Given the description of an element on the screen output the (x, y) to click on. 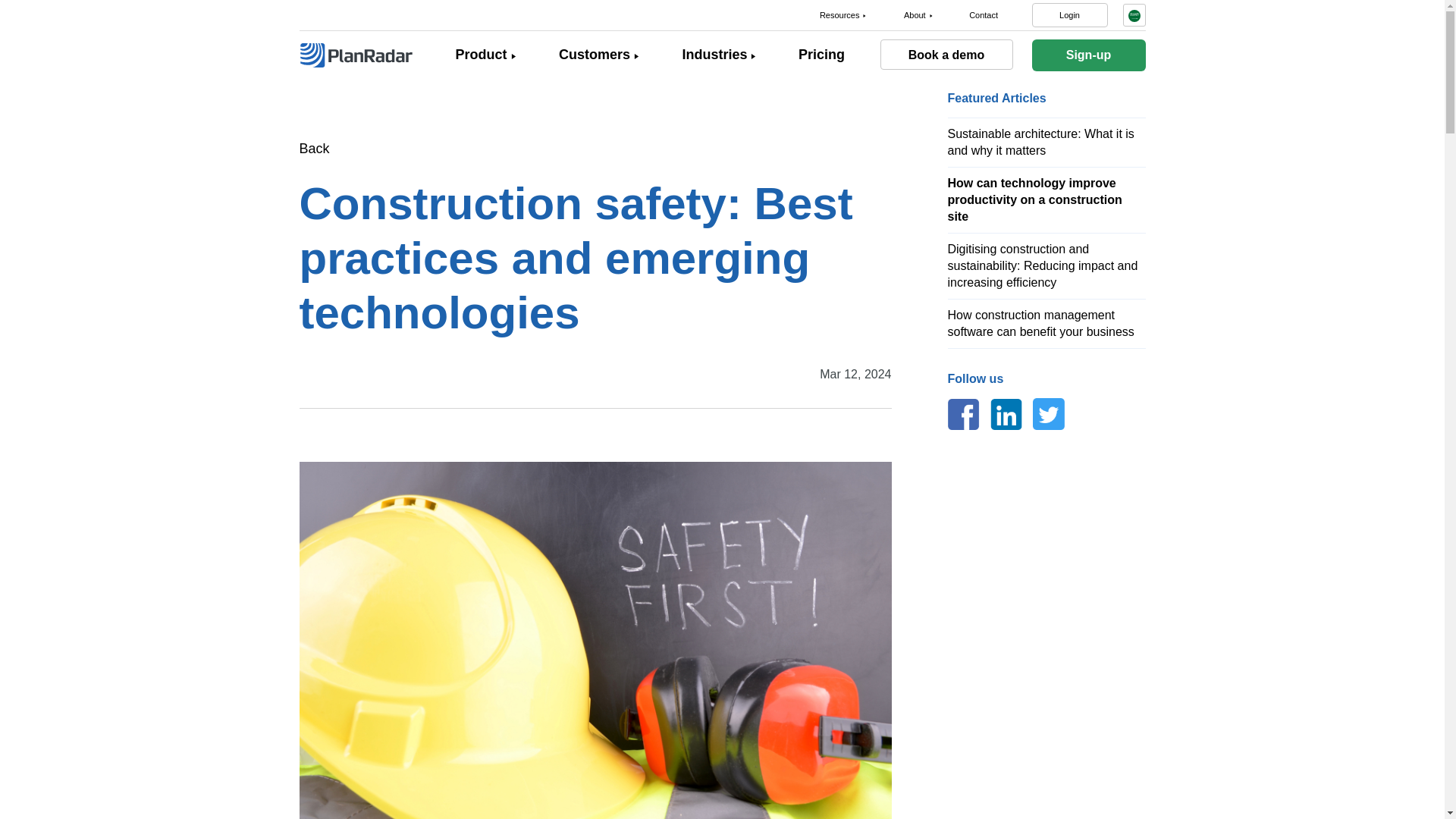
Login (1068, 15)
Industries (713, 54)
Customers (594, 54)
Resources (839, 15)
Contact (983, 15)
Sustainable architecture: What it is and why it matters (1040, 142)
Product (480, 54)
